Given the description of an element on the screen output the (x, y) to click on. 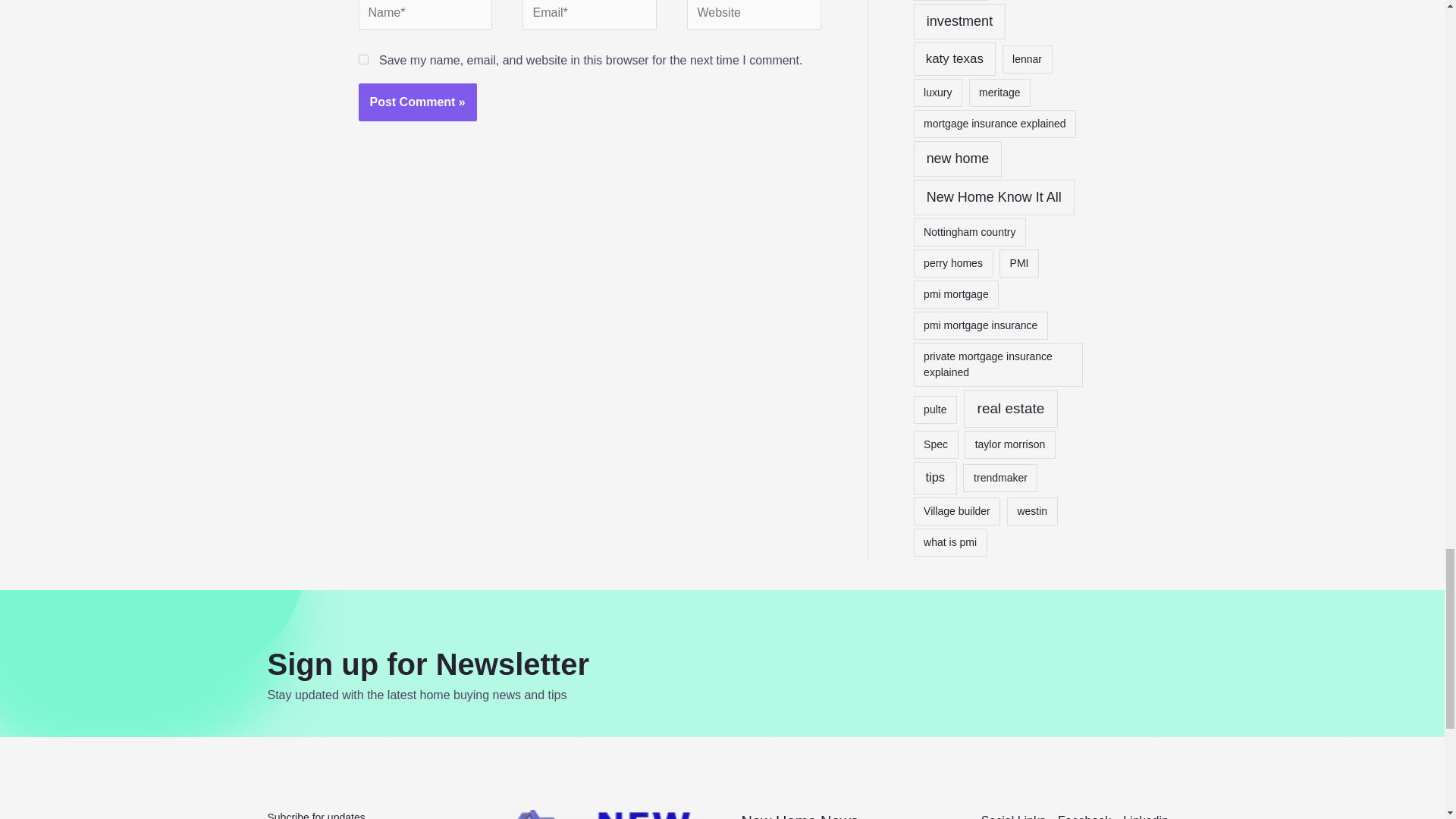
yes (363, 59)
